Given the description of an element on the screen output the (x, y) to click on. 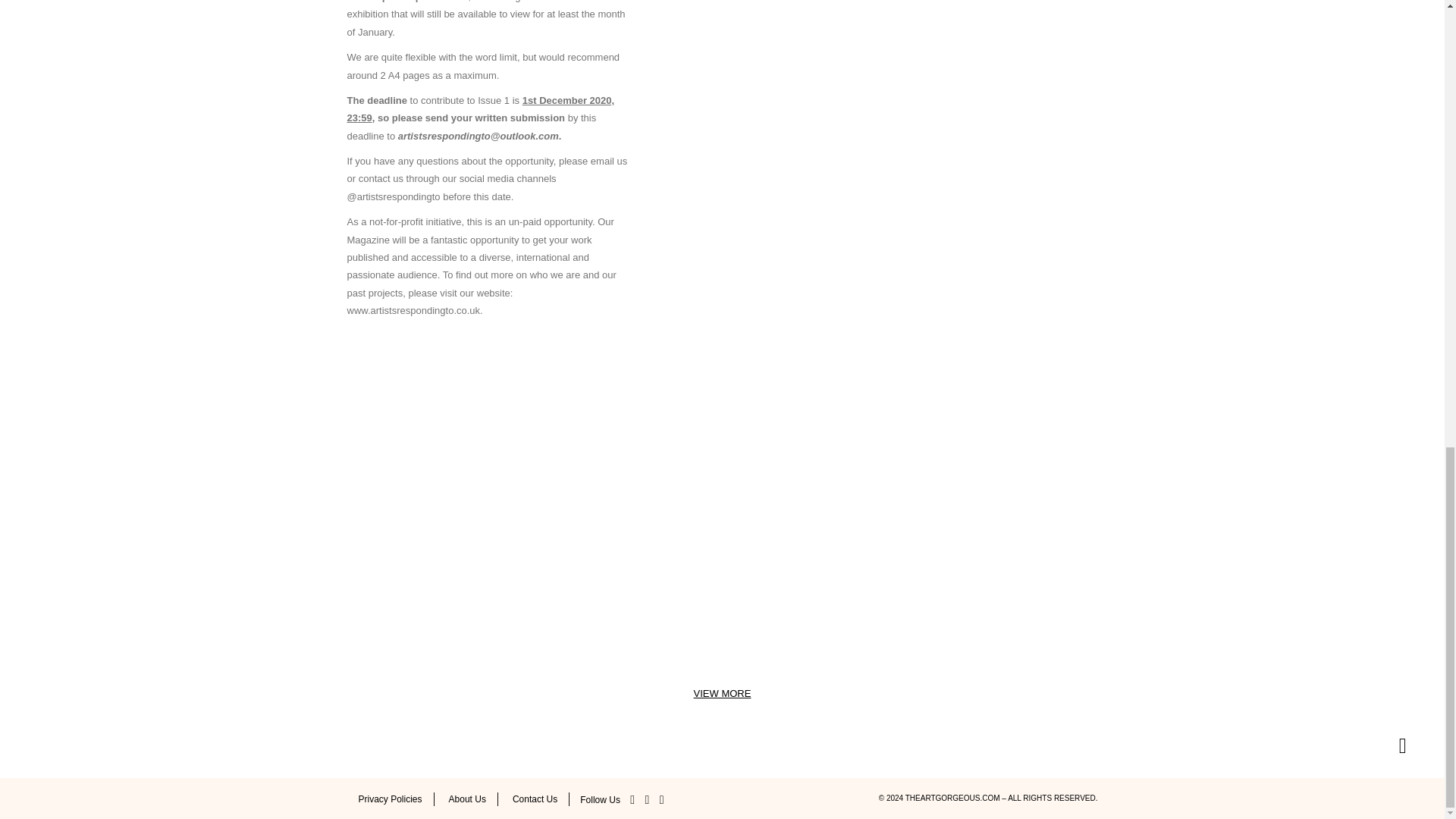
Contact Us (534, 798)
Privacy Policies (390, 798)
VIEW MORE (722, 693)
About Us (467, 798)
